Given the description of an element on the screen output the (x, y) to click on. 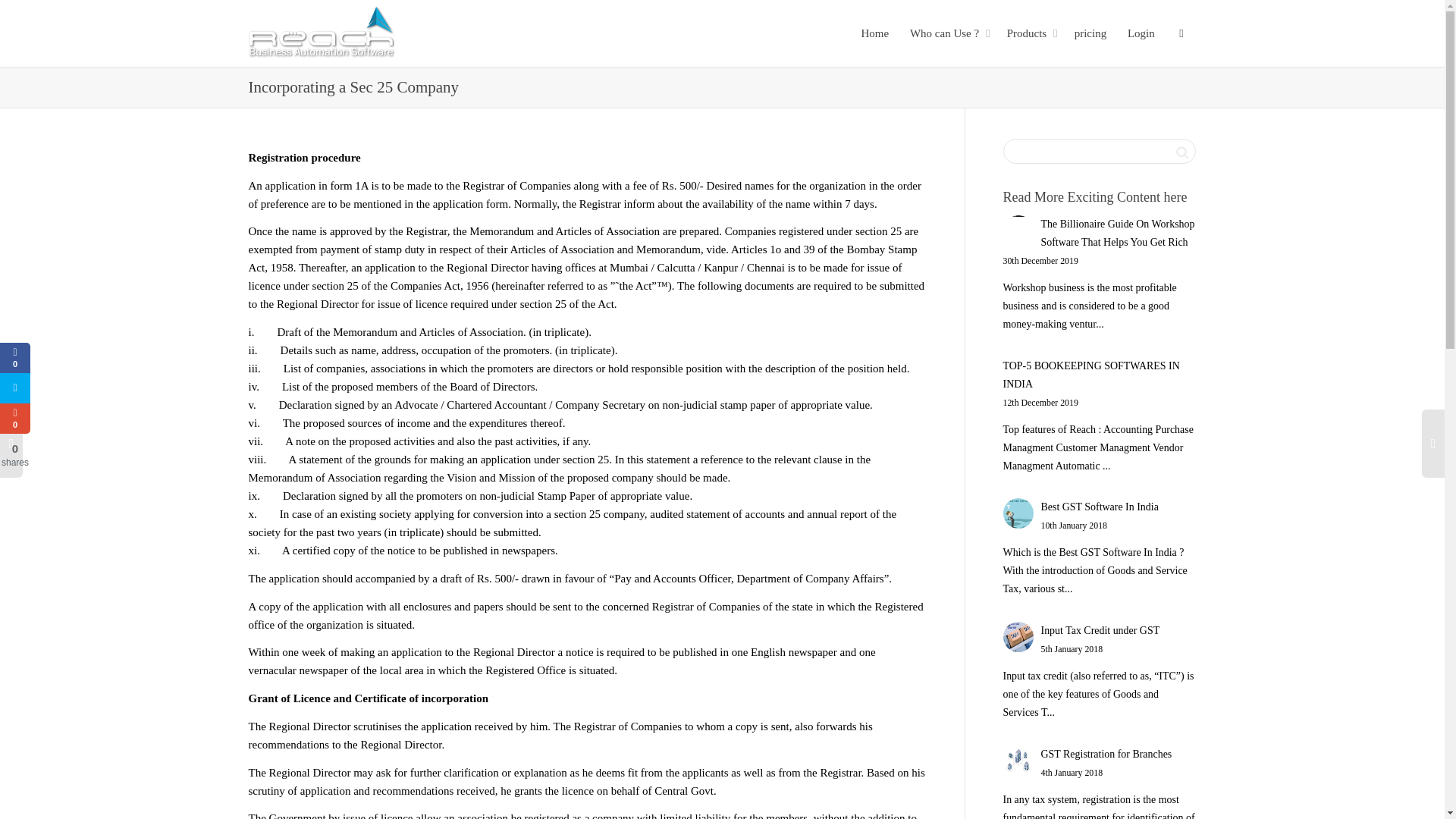
Search (1181, 151)
Reach Accounting Software (321, 33)
Who can Use ? (947, 33)
Who can Use ? (947, 33)
